Given the description of an element on the screen output the (x, y) to click on. 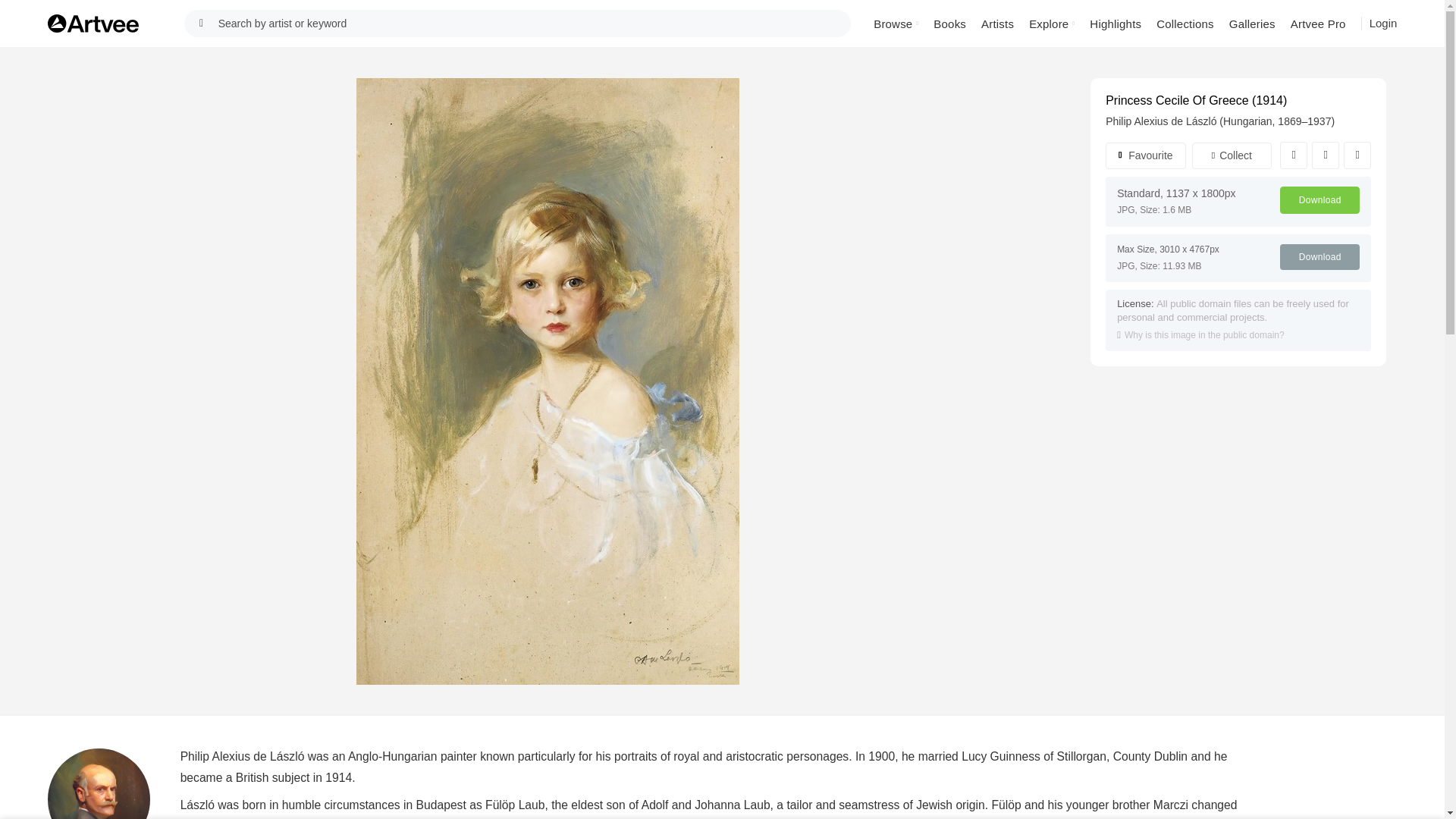
Browse (896, 23)
Favourite (1145, 155)
Download (1319, 199)
Galleries (1251, 23)
Login (1383, 22)
Collections (1184, 23)
Artists (998, 23)
Twitter (1325, 154)
Highlights (1114, 23)
SEARCH (201, 22)
Books (950, 23)
Login (1383, 23)
Download (1319, 257)
Explore (1051, 23)
Artvee Pro (1318, 23)
